Given the description of an element on the screen output the (x, y) to click on. 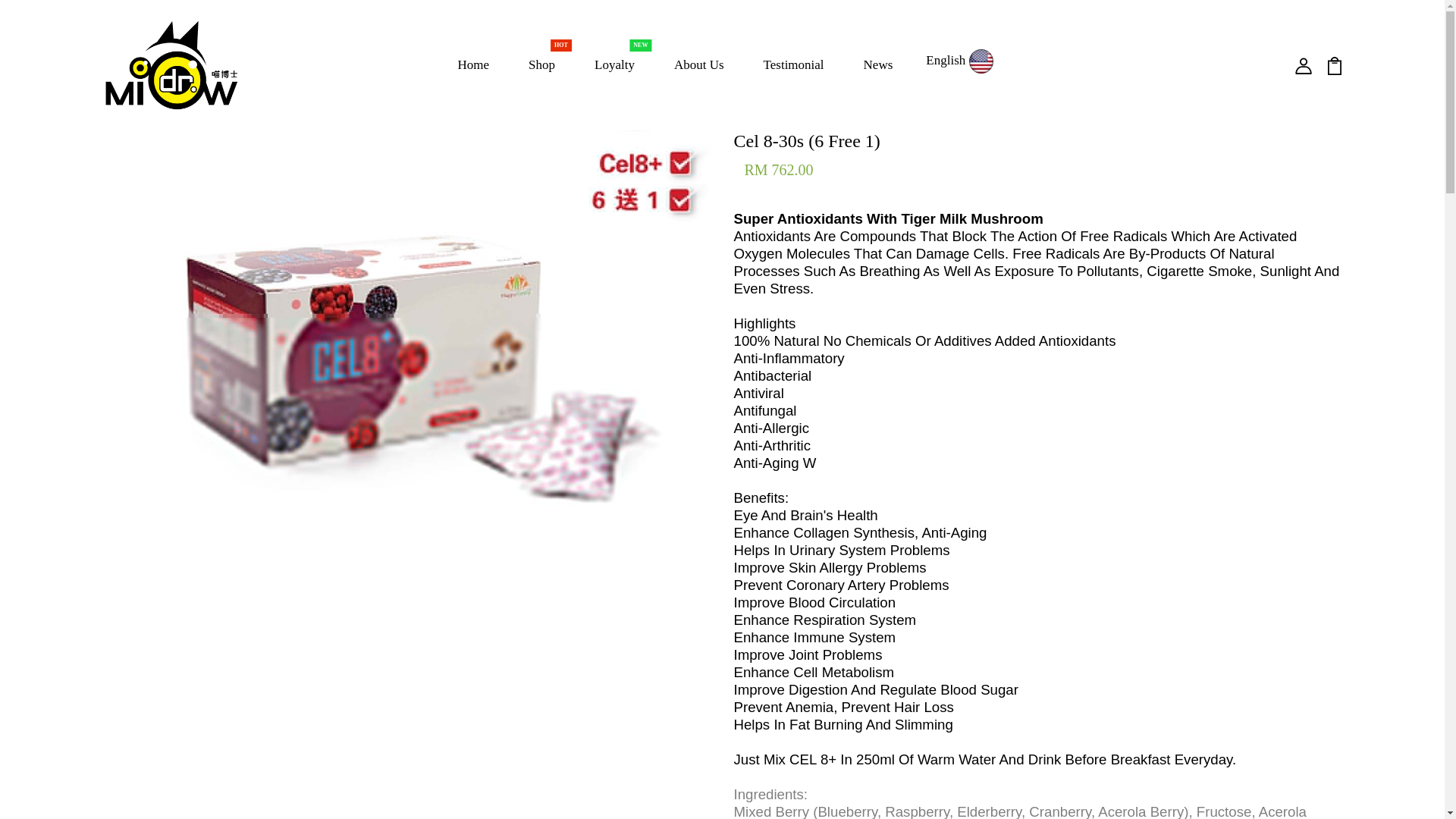
Home (473, 65)
ABOUT US (699, 65)
HOME (473, 65)
SHOP (541, 65)
SHOP (541, 65)
